Given the description of an element on the screen output the (x, y) to click on. 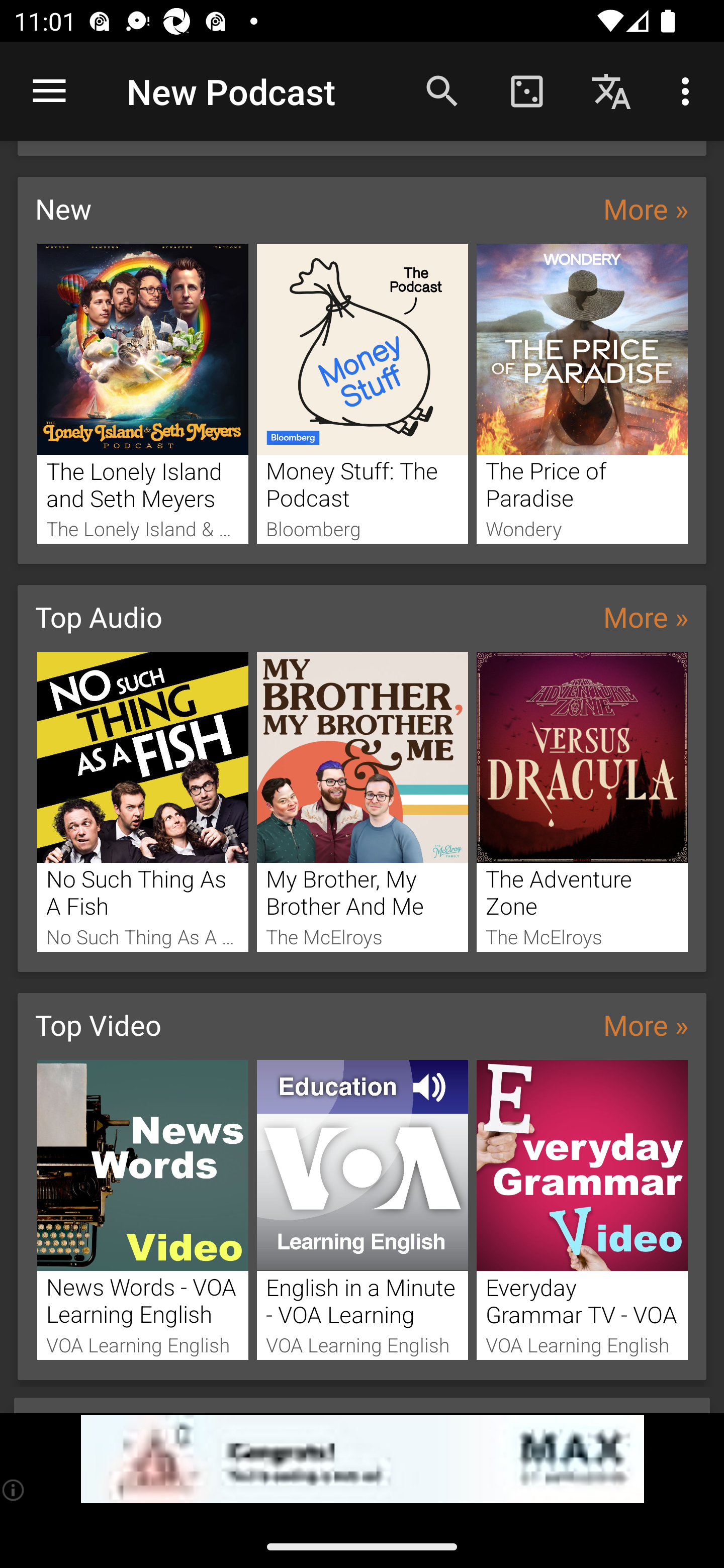
Open navigation sidebar (49, 91)
Search (442, 90)
Random pick (526, 90)
Podcast languages (611, 90)
More options (688, 90)
More » (645, 208)
Money Stuff: The Podcast Bloomberg (362, 393)
The Price of Paradise Wondery (581, 393)
More » (645, 616)
No Such Thing As A Fish (142, 801)
My Brother, My Brother And Me The McElroys (362, 801)
The Adventure Zone The McElroys (581, 801)
More » (645, 1024)
app-monetization (362, 1459)
(i) (14, 1489)
